Given the description of an element on the screen output the (x, y) to click on. 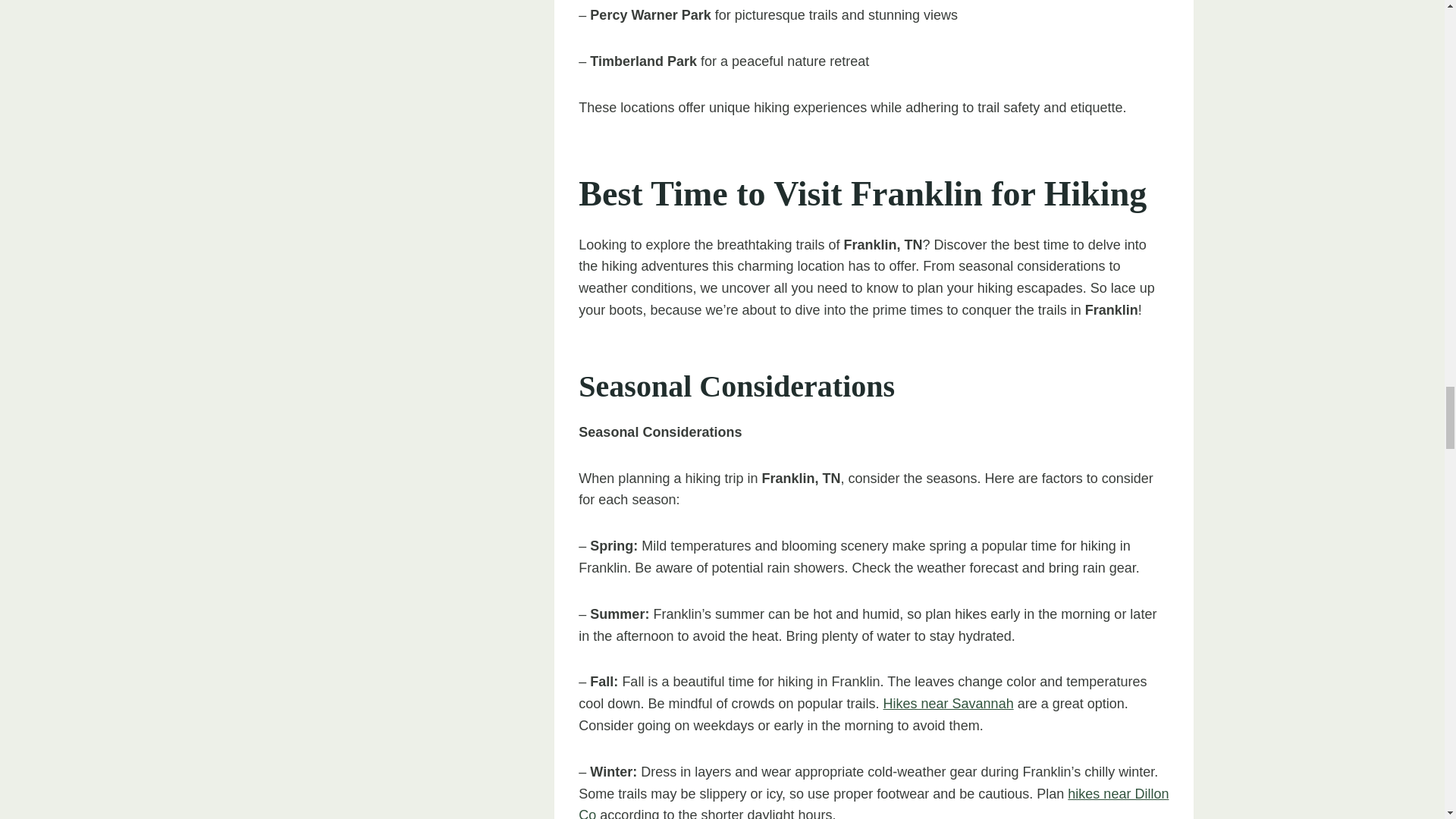
Hikes near Savannah (948, 703)
hikes near Dillon Co (873, 802)
